Given the description of an element on the screen output the (x, y) to click on. 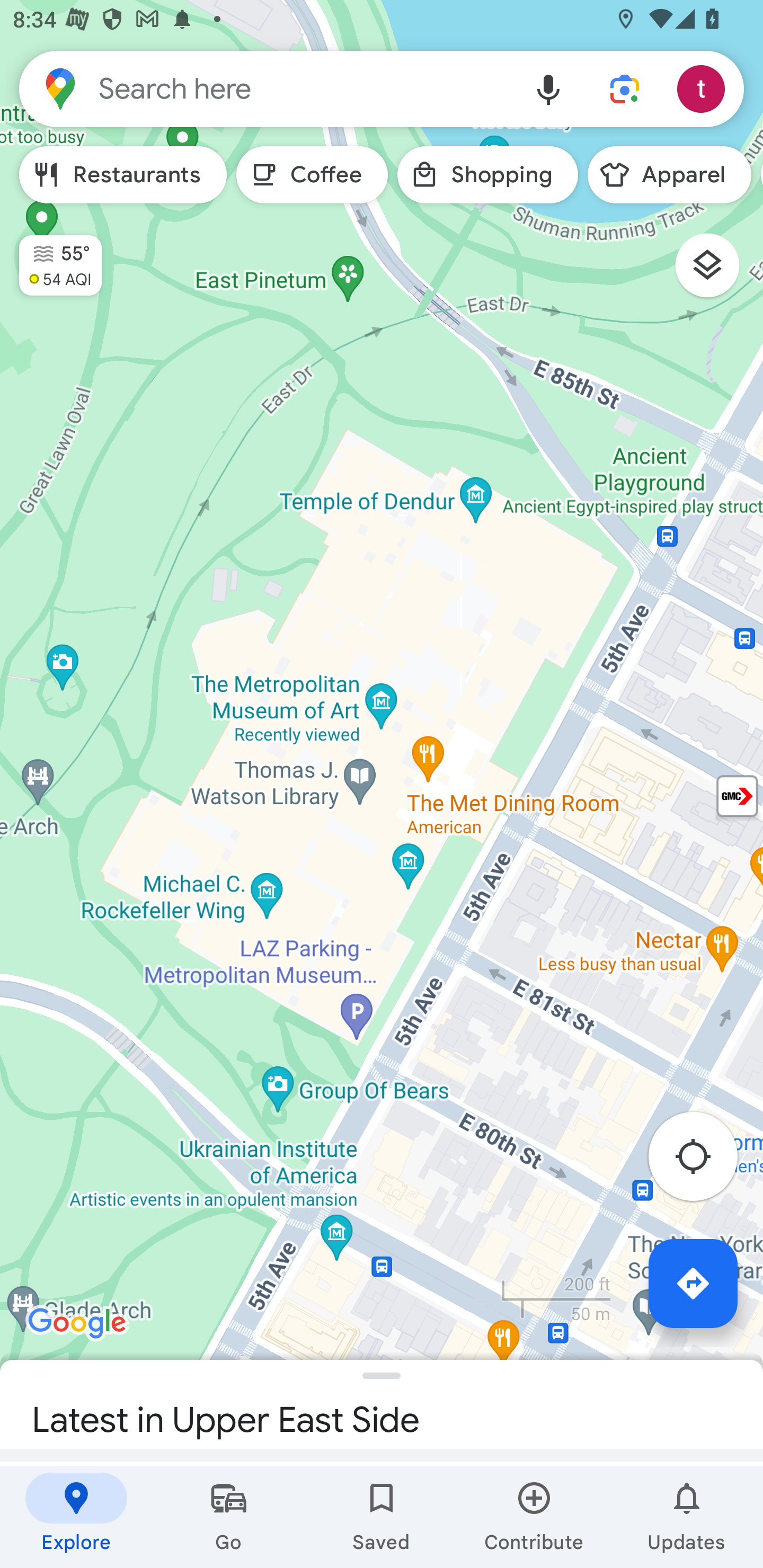
Search here (264, 88)
Voice search (548, 88)
Lens in Maps (624, 88)
Account and settings. (703, 88)
Restaurants Search for Restaurants (122, 174)
Coffee Search for Coffee (311, 174)
Shopping Search for Shopping (487, 174)
Apparel Search for Apparel (669, 174)
Mist, 55°, Moderate, 54 AQI 55° 54 AQI (50, 257)
Layers (716, 271)
Re-center map to your location (702, 1161)
Directions (692, 1283)
Go (228, 1517)
Saved (381, 1517)
Contribute (533, 1517)
Updates (686, 1517)
